Given the description of an element on the screen output the (x, y) to click on. 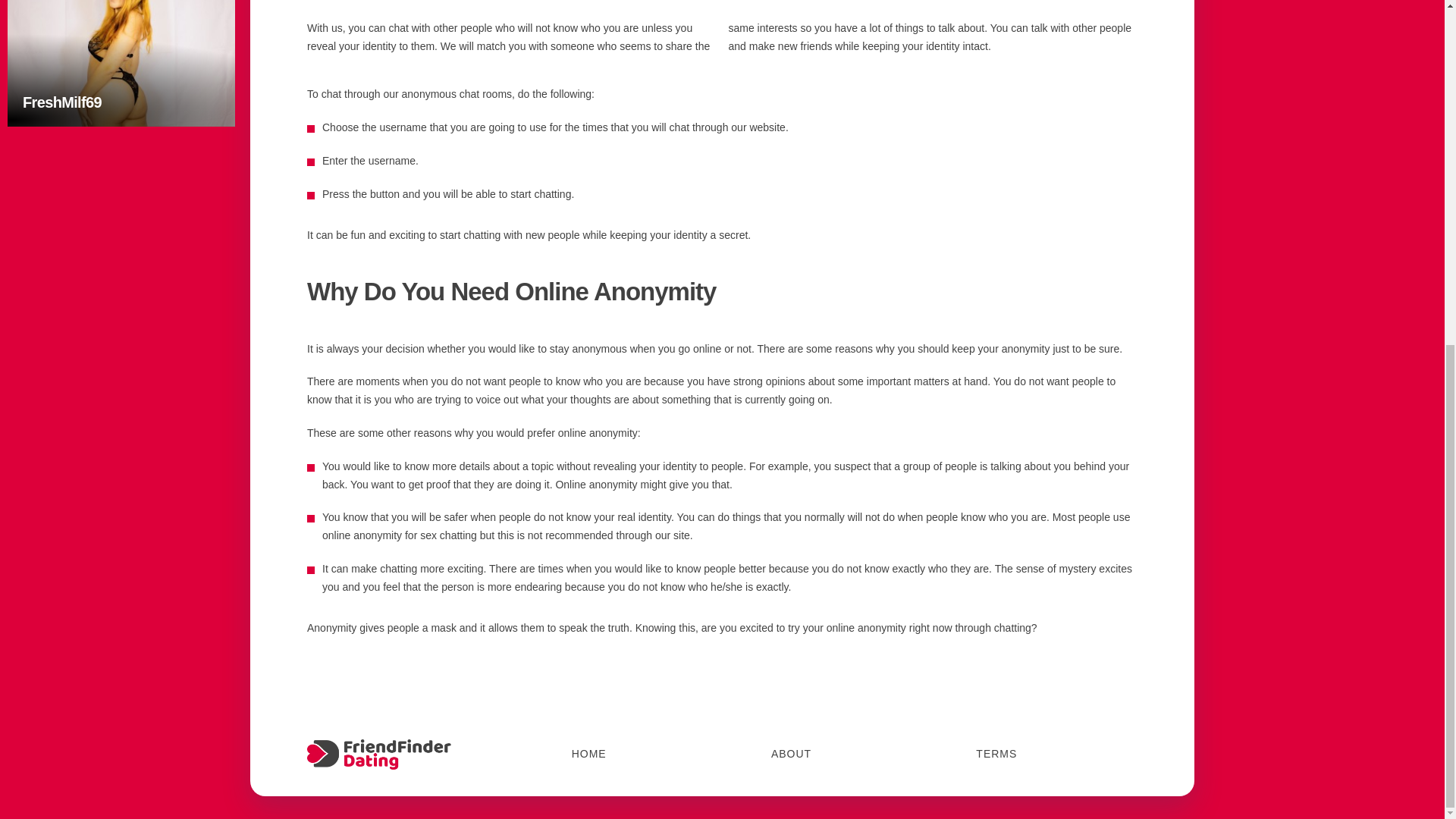
HOME (120, 63)
ABOUT (589, 754)
TERMS (790, 754)
